Given the description of an element on the screen output the (x, y) to click on. 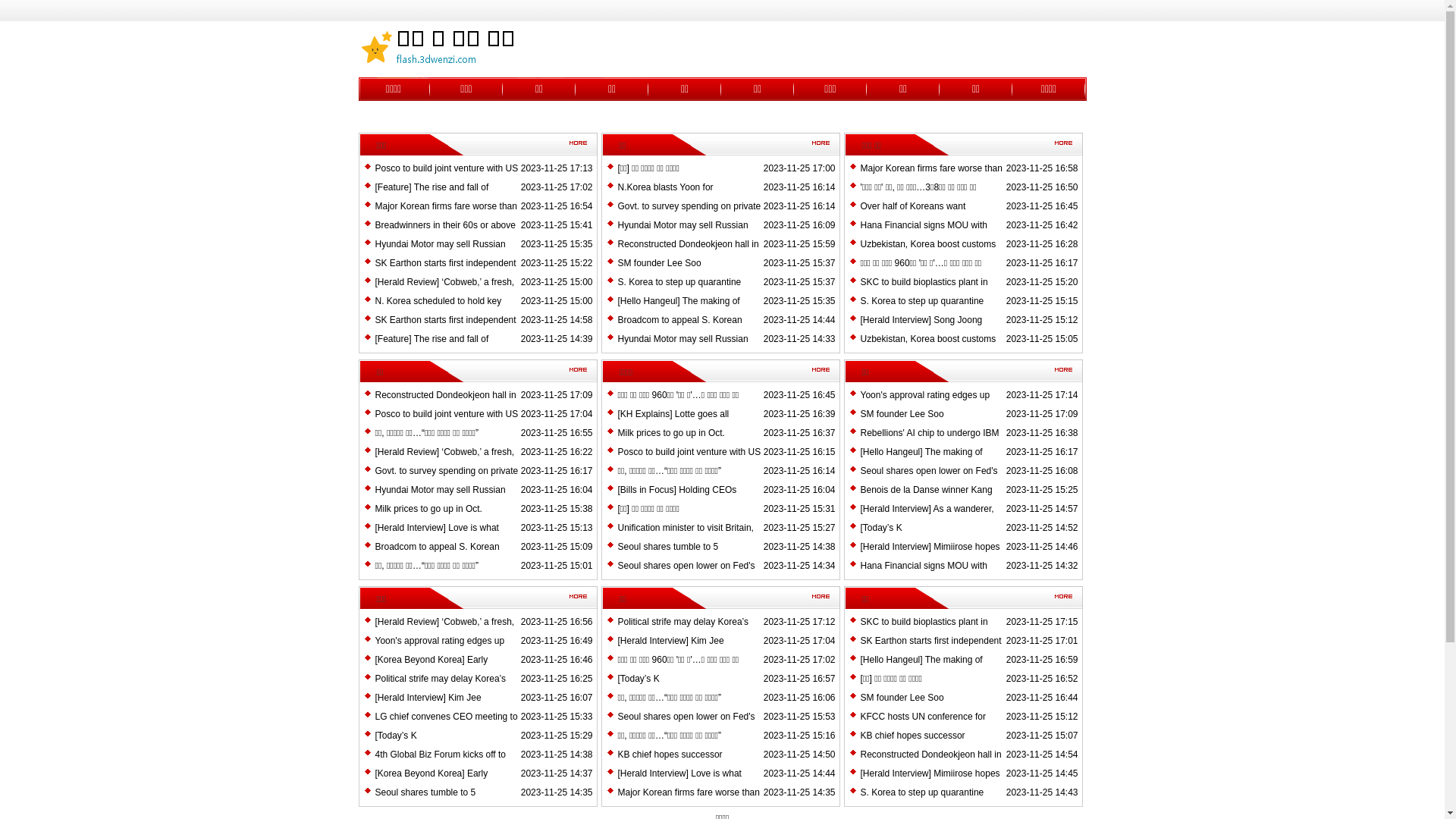
LG chief convenes CEO meeting to review growth strategy Element type: text (445, 725)
SKC to build bioplastics plant in Vietnam Element type: text (923, 630)
Posco to build joint venture with US grain company Element type: text (445, 177)
[Herald Interview] Love is what defines artist Dawn Element type: text (678, 782)
Seoul shares open lower on Fed's higher Element type: text (685, 574)
SKC to build bioplastics plant in Vietnam Element type: text (923, 290)
Hyundai Motor may sell Russian plant to local firm Element type: text (439, 498)
Uzbekistan, Korea boost customs cooperation Element type: text (927, 347)
[Herald Interview] Song Joong Element type: text (920, 319)
[Herald Interview] Kim Jee Element type: text (427, 697)
Major Korean firms fare worse than US counterparts in H1 Element type: text (688, 801)
Unification minister to visit Britain, Germany Element type: text (685, 536)
4th Global Biz Forum kicks off to discuss 'next prosperity' Element type: text (439, 763)
KFCC hosts UN conference for inclusive finance Element type: text (922, 725)
Posco to build joint venture with US grain company Element type: text (445, 422)
[Herald Interview] Mimiirose hopes to make a name for itself Element type: text (929, 555)
Major Korean firms fare worse than US counterparts in H1 Element type: text (930, 177)
Hyundai Motor may sell Russian plant to local firm Element type: text (682, 233)
Yoon's approval rating edges up after 6 Element type: text (924, 403)
Major Korean firms fare worse than US counterparts in H1 Element type: text (445, 214)
Hyundai Motor may sell Russian plant to local firm Element type: text (682, 347)
SM founder Lee Soo Element type: text (901, 697)
Yoon's approval rating edges up after 6 Element type: text (439, 649)
[Feature] The rise and fall of terrestrial TV dramas Element type: text (431, 196)
[KH Explains] Lotte goes all Element type: text (672, 413)
SM founder Lee Soo Element type: text (658, 262)
[Herald Interview] Kim Jee Element type: text (670, 640)
SM founder Lee Soo Element type: text (901, 413)
Hyundai Motor may sell Russian plant to local firm Element type: text (439, 252)
Seoul shares tumble to 5 Element type: text (667, 546)
Milk prices to go up in Oct. Element type: text (670, 432)
[Feature] The rise and fall of terrestrial TV dramas Element type: text (431, 347)
Breadwinners in their 60s or above double in 9 years Element type: text (444, 233)
Rebellions' AI chip to undergo IBM quality testing Element type: text (928, 441)
Seoul shares tumble to 5 Element type: text (424, 792)
Uzbekistan, Korea boost customs cooperation Element type: text (927, 252)
[Herald Interview] Mimiirose hopes to make a name for itself Element type: text (929, 782)
Benois de la Danse winner Kang Mi Element type: text (925, 498)
Seoul shares open lower on Fed's higher Element type: text (928, 479)
[Herald Interview] Love is what defines artist Dawn Element type: text (436, 536)
Milk prices to go up in Oct. Element type: text (427, 508)
Posco to build joint venture with US grain company Element type: text (688, 460)
Seoul shares open lower on Fed's higher Element type: text (685, 725)
